Given the description of an element on the screen output the (x, y) to click on. 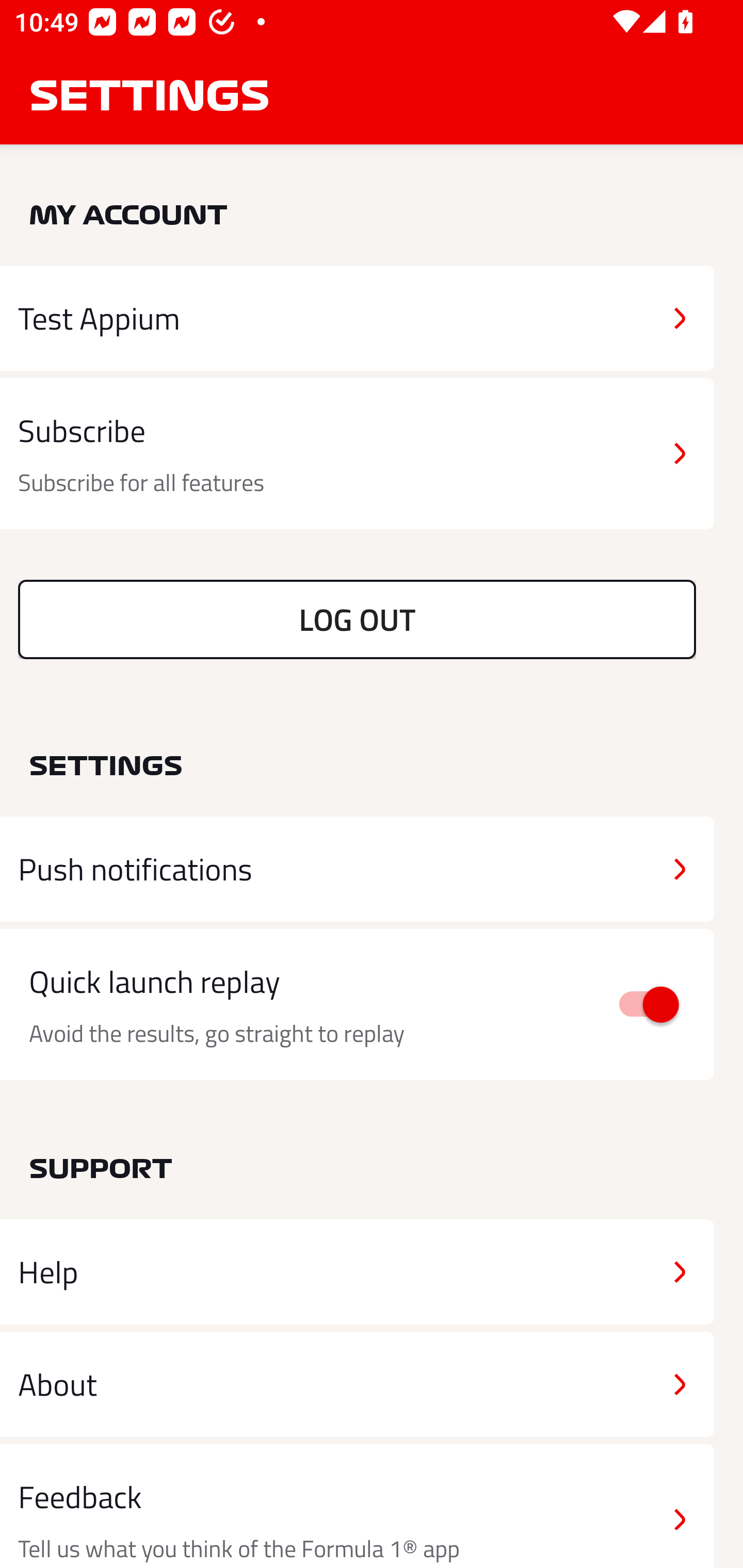
Test Appium (357, 317)
Subscribe Subscribe for all features (357, 453)
LOG OUT (356, 619)
Push notifications (357, 868)
Help (357, 1271)
About (357, 1383)
